Given the description of an element on the screen output the (x, y) to click on. 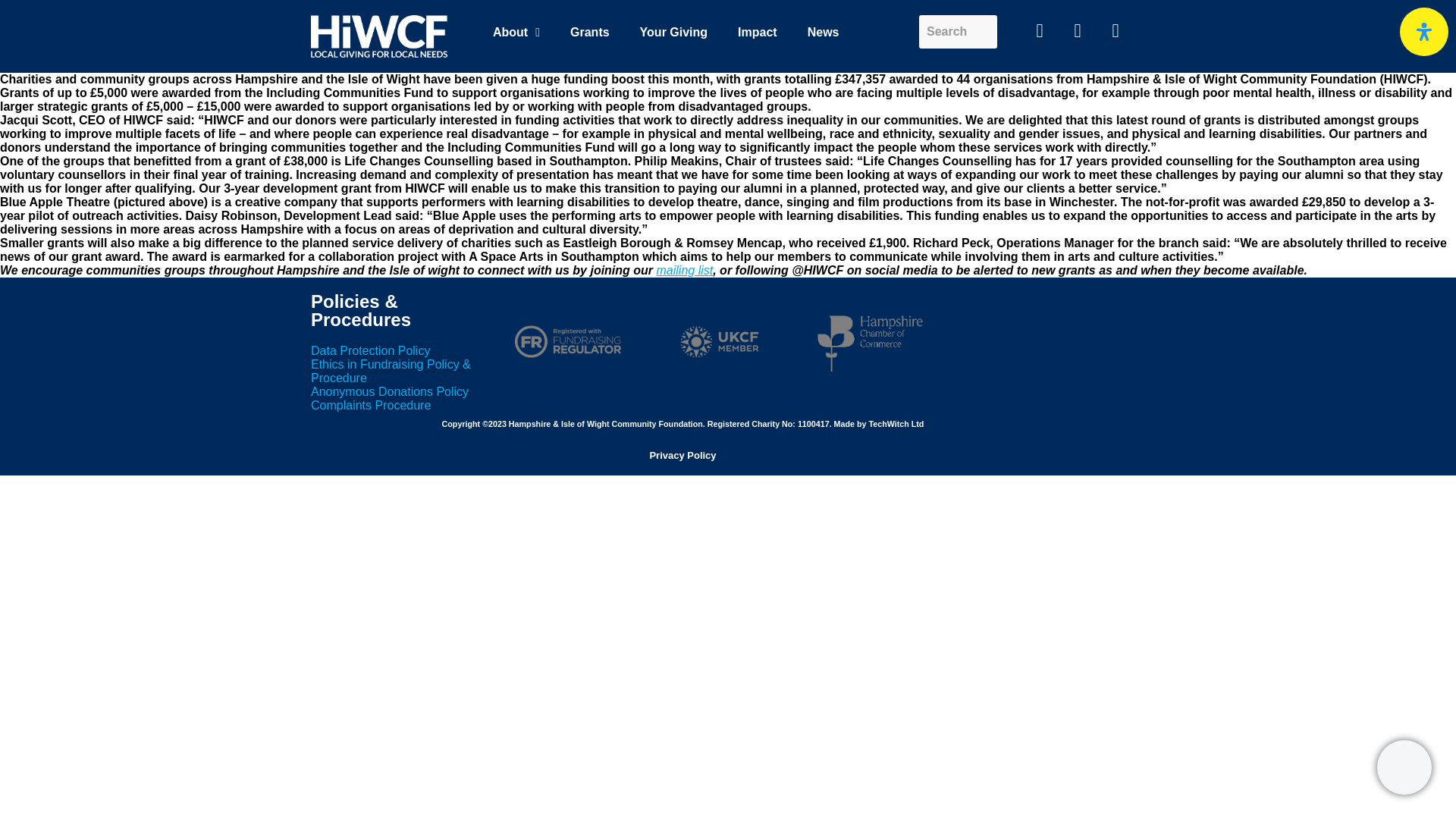
About (515, 32)
mailing list (684, 269)
Accessibility (1423, 31)
Impact (757, 32)
Anonymous Donations Policy (389, 391)
Search (957, 31)
Grants (589, 32)
Your Giving (673, 32)
Data Protection Policy (370, 350)
Complaints Procedure (370, 404)
